Given the description of an element on the screen output the (x, y) to click on. 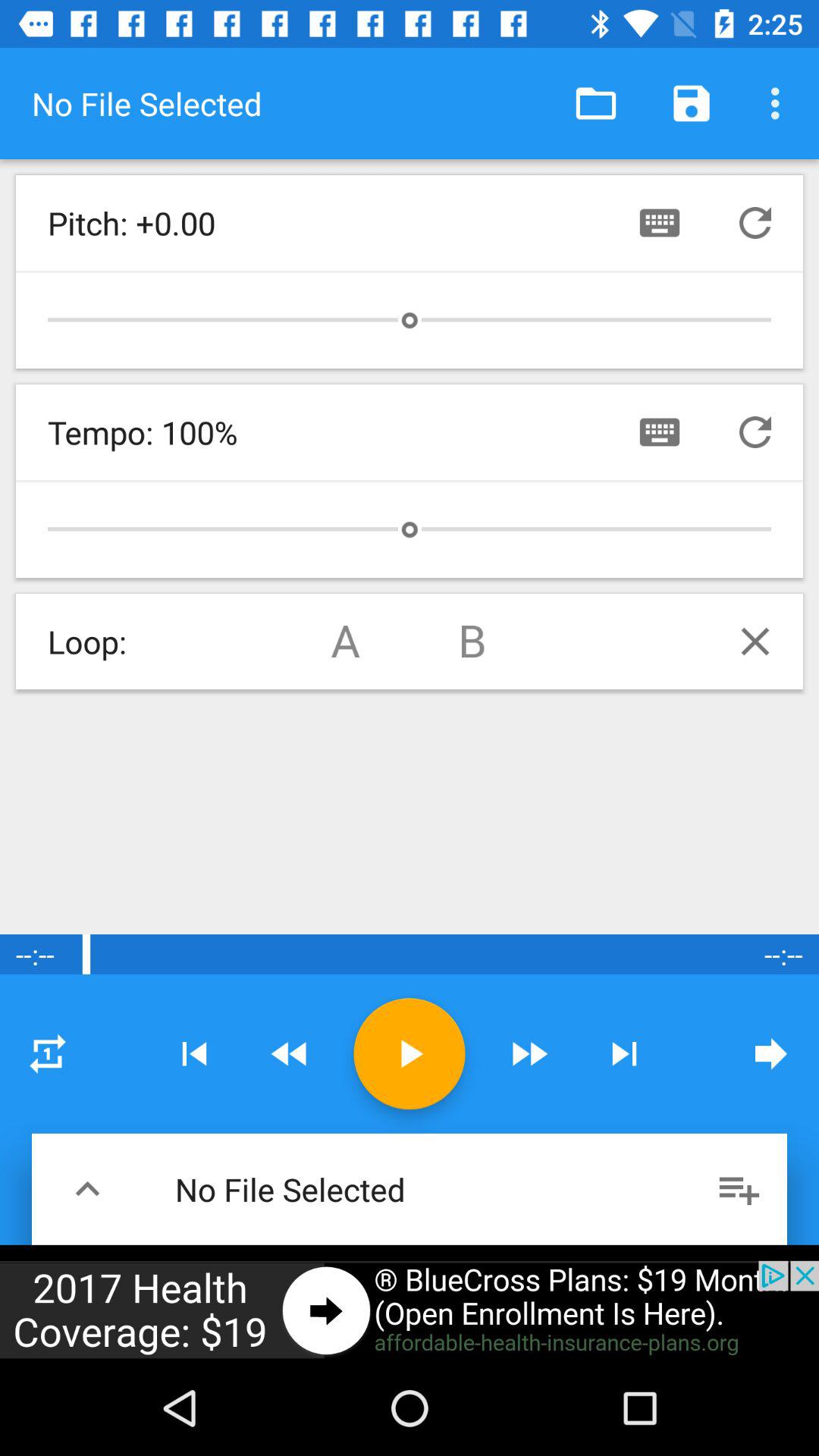
repeat (755, 432)
